Given the description of an element on the screen output the (x, y) to click on. 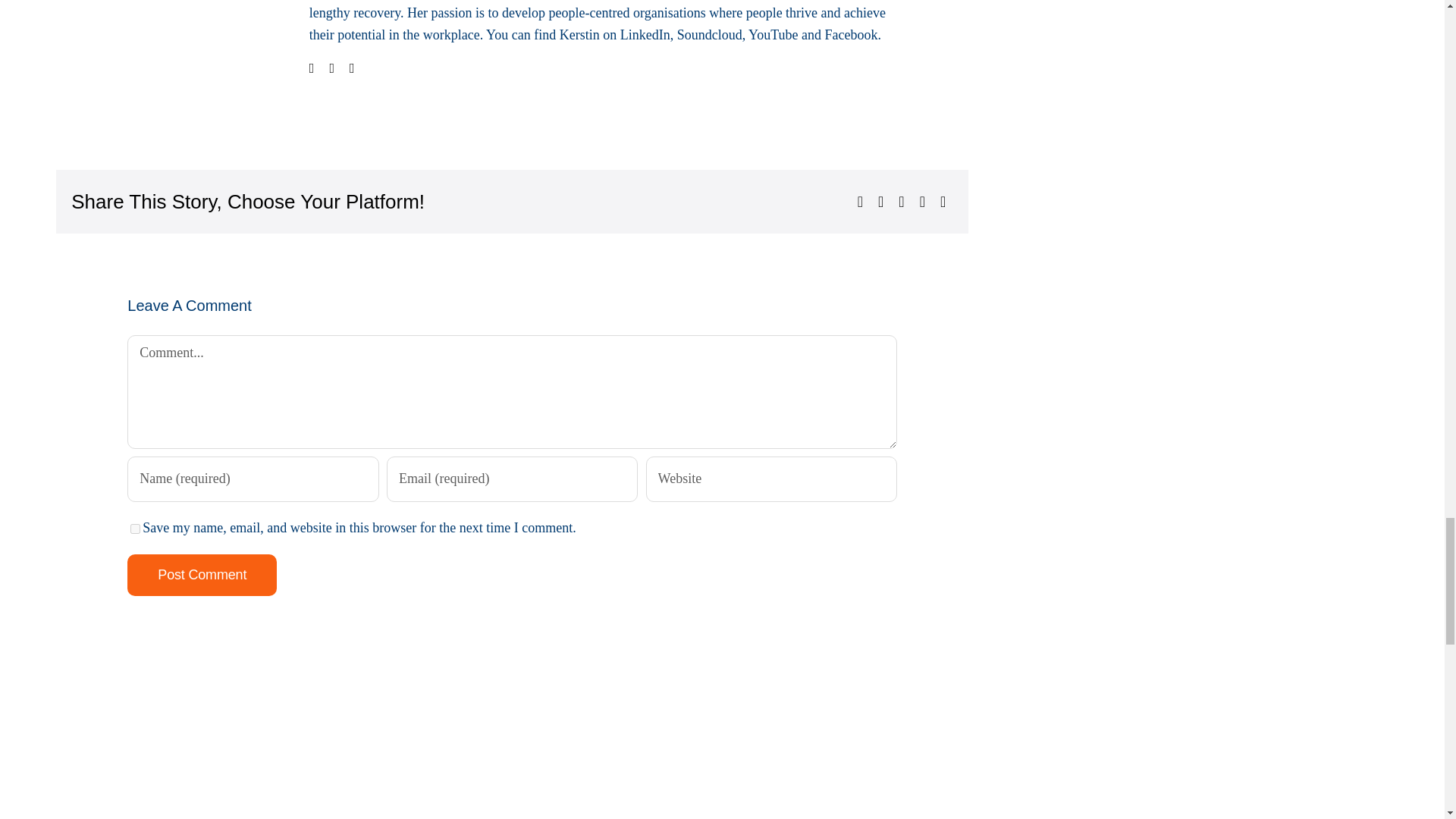
yes (135, 528)
bKersin-Profile-for-web 2 (196, 54)
Post Comment (202, 575)
